Given the description of an element on the screen output the (x, y) to click on. 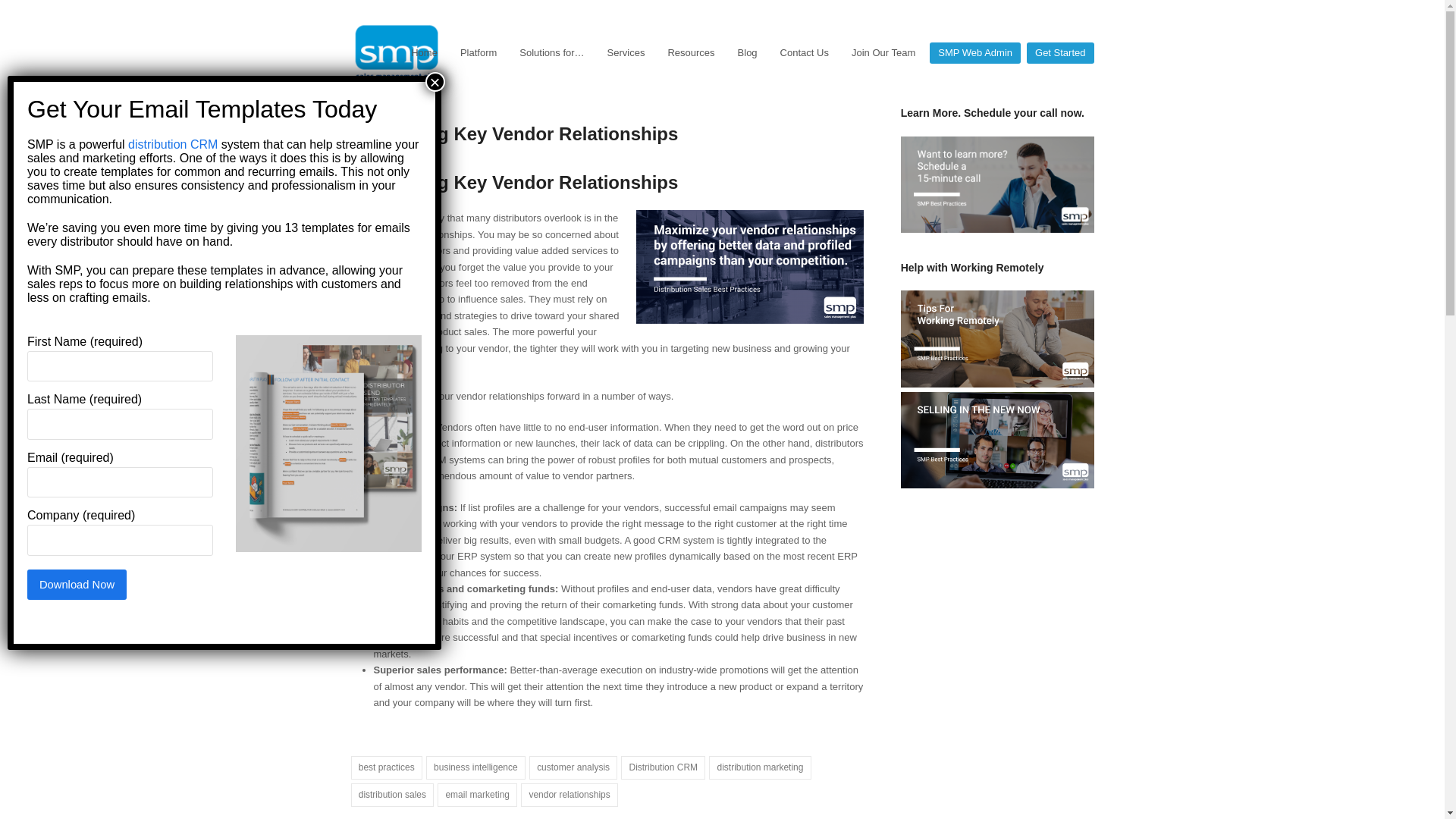
distribution sales (391, 794)
business intelligence (475, 767)
email marketing (477, 794)
Home (423, 53)
Contact Us (804, 53)
best practices (386, 767)
Platform (478, 53)
Join Our Team (883, 53)
SMP Web Admin (974, 53)
customer analysis (573, 767)
Distribution CRM (662, 767)
Get Started (1059, 53)
Blog (747, 53)
distribution marketing (759, 767)
Download Now (76, 584)
